Given the description of an element on the screen output the (x, y) to click on. 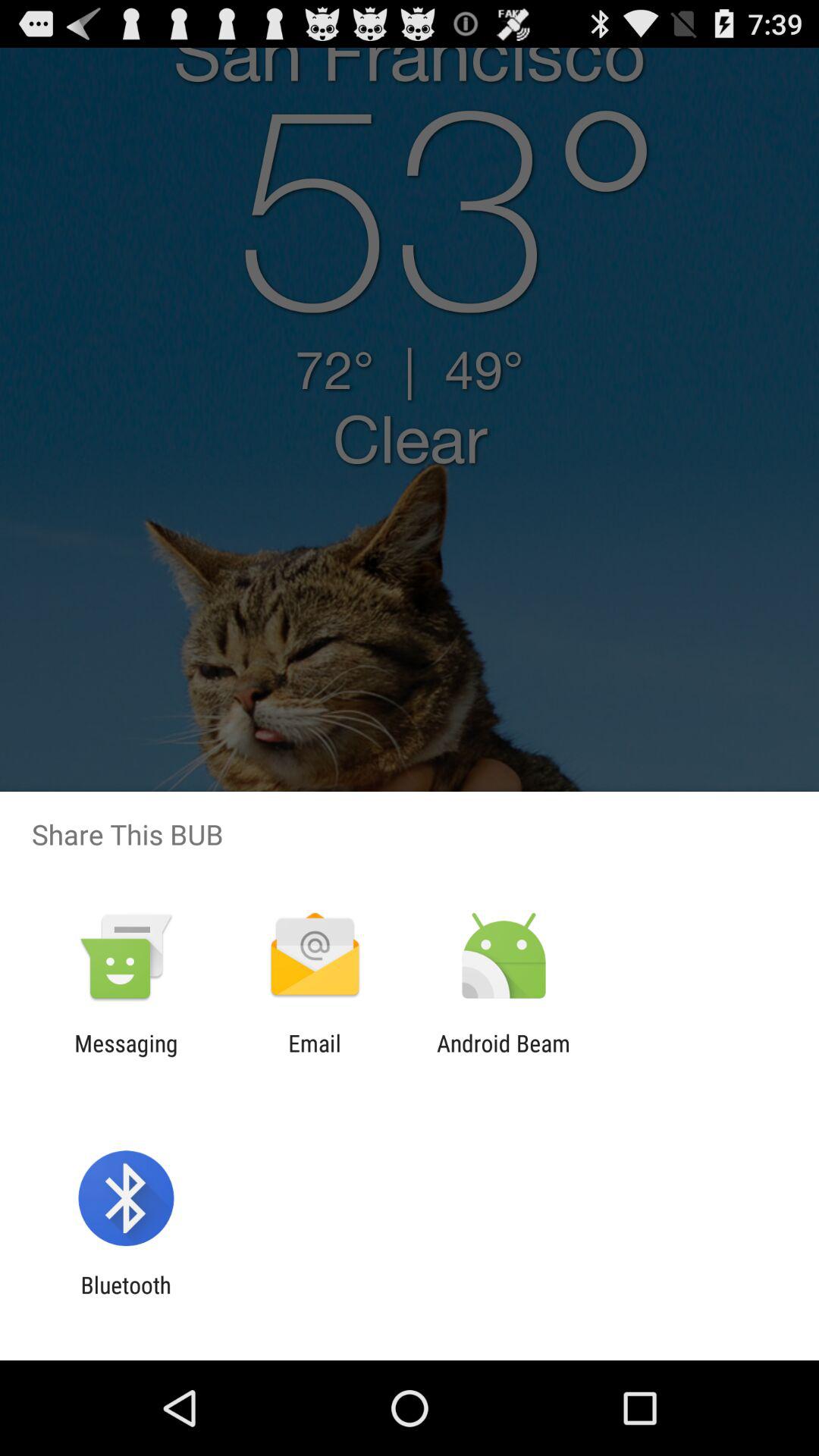
tap the app to the left of android beam item (314, 1056)
